Given the description of an element on the screen output the (x, y) to click on. 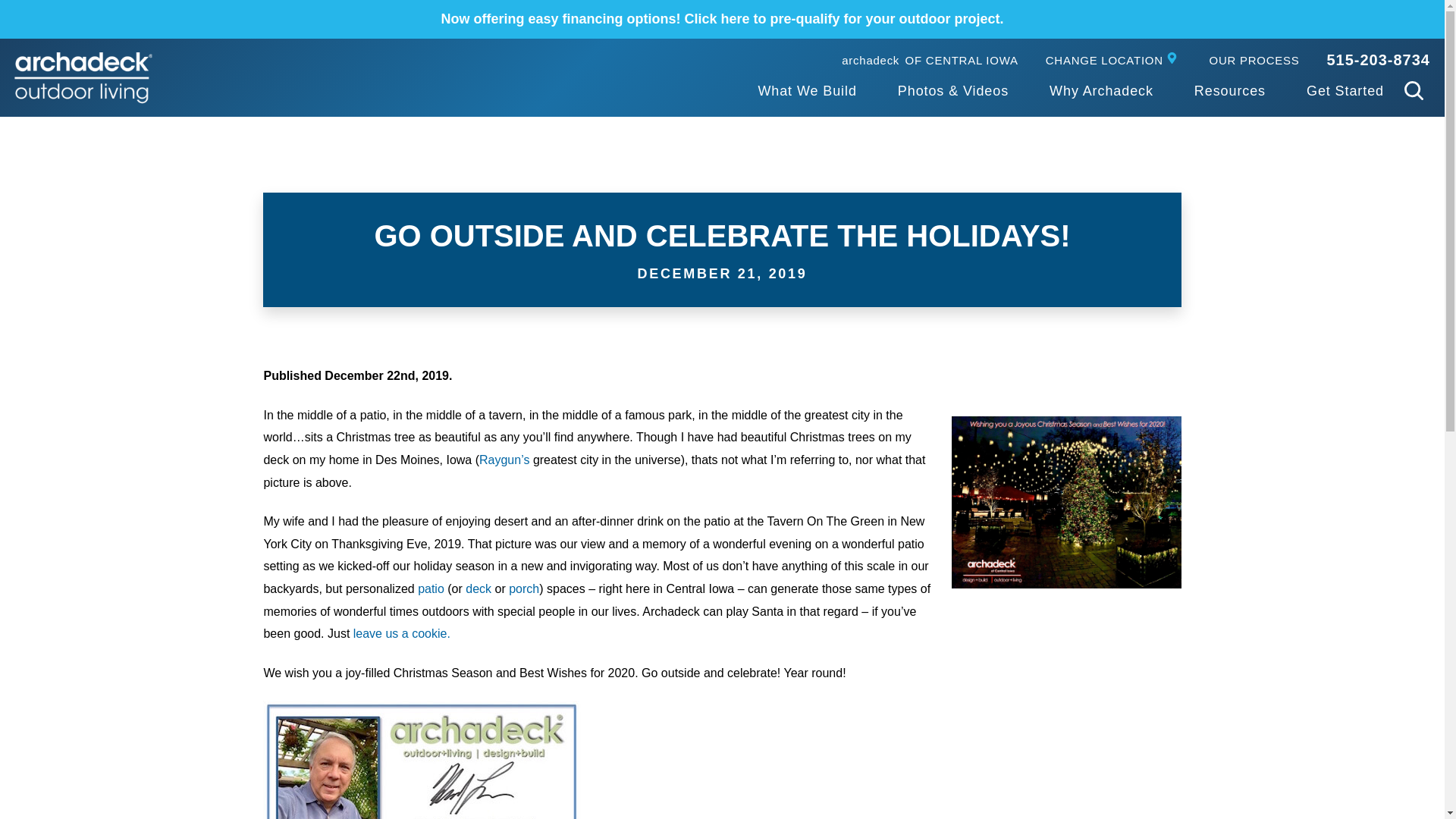
Why Archadeck (1101, 91)
Resources (1229, 91)
CHANGE LOCATION (1113, 60)
OUR PROCESS (1254, 60)
515-203-8734 (1377, 59)
What We Build (929, 60)
Archadeck (806, 91)
